Given the description of an element on the screen output the (x, y) to click on. 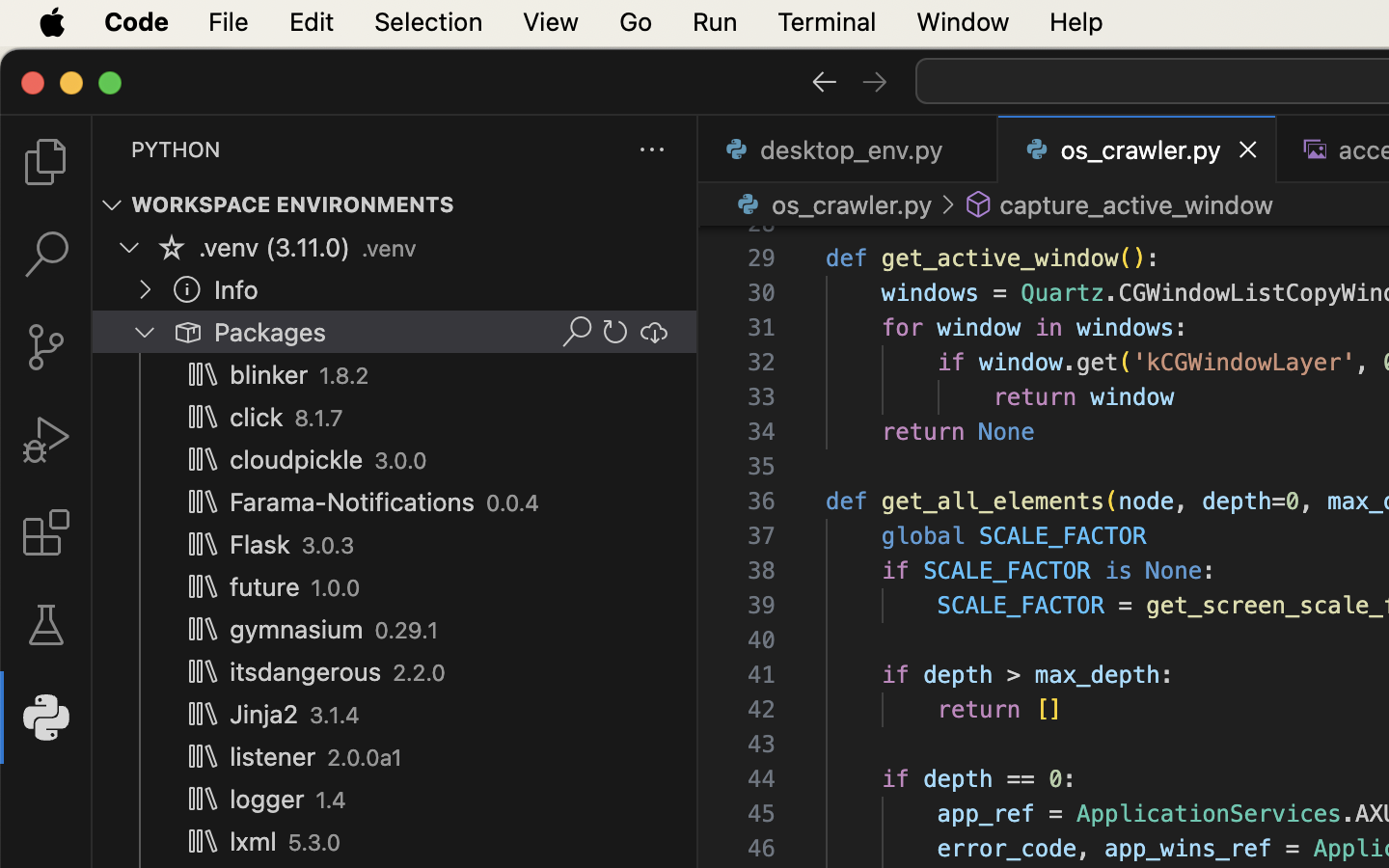
WORKSPACE ENVIRONMENTS Element type: AXStaticText (293, 204)
3.0.3 Element type: AXStaticText (327, 545)
 Element type: AXButton (653, 331)
capture_active_window Element type: AXGroup (1136, 204)
 Element type: AXButton (824, 80)
